Given the description of an element on the screen output the (x, y) to click on. 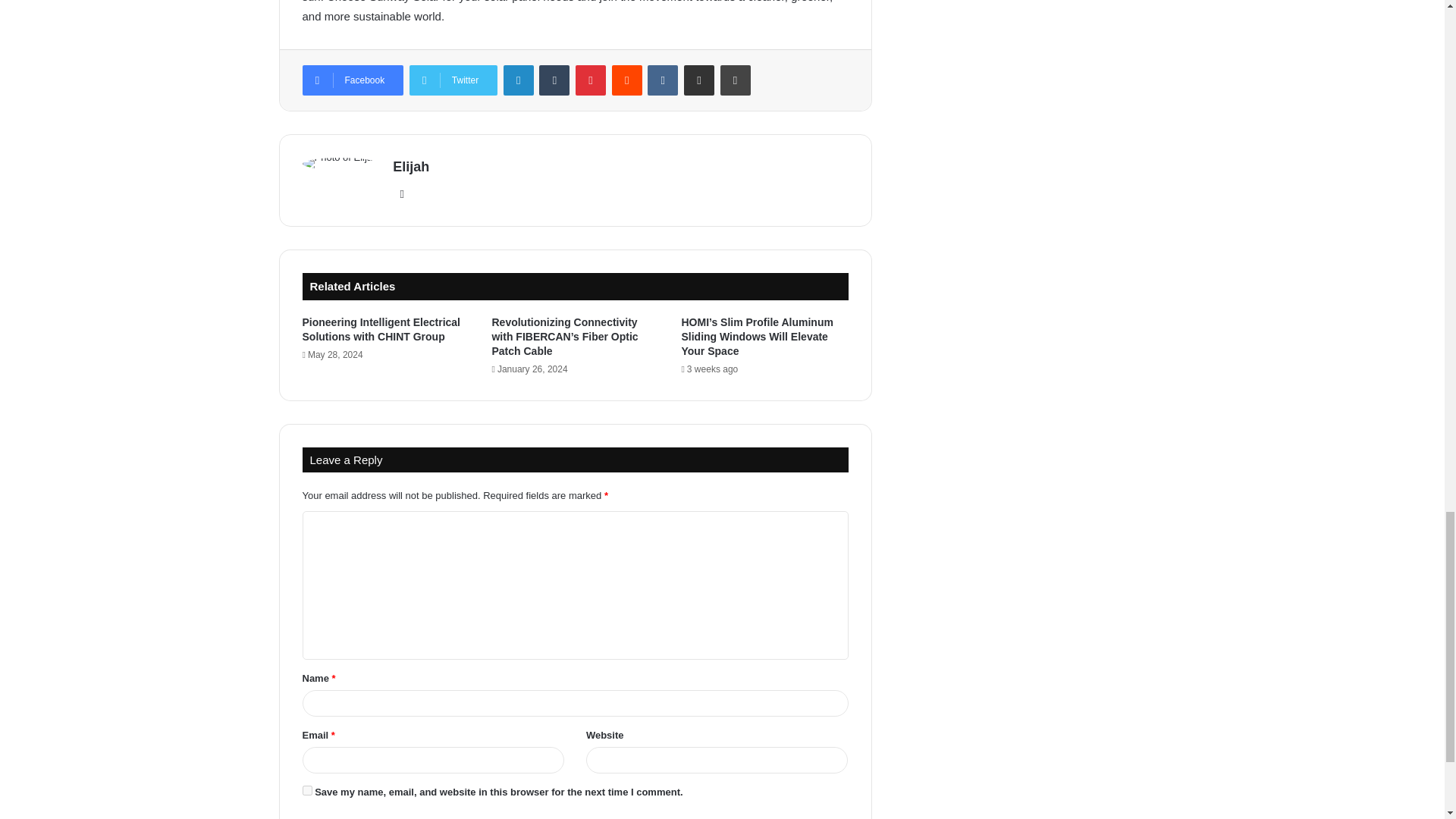
VKontakte (662, 80)
Share via Email (699, 80)
Reddit (626, 80)
yes (306, 790)
Reddit (626, 80)
Twitter (453, 80)
VKontakte (662, 80)
Website (401, 194)
Pinterest (590, 80)
Pioneering Intelligent Electrical Solutions with CHINT Group (380, 329)
